Given the description of an element on the screen output the (x, y) to click on. 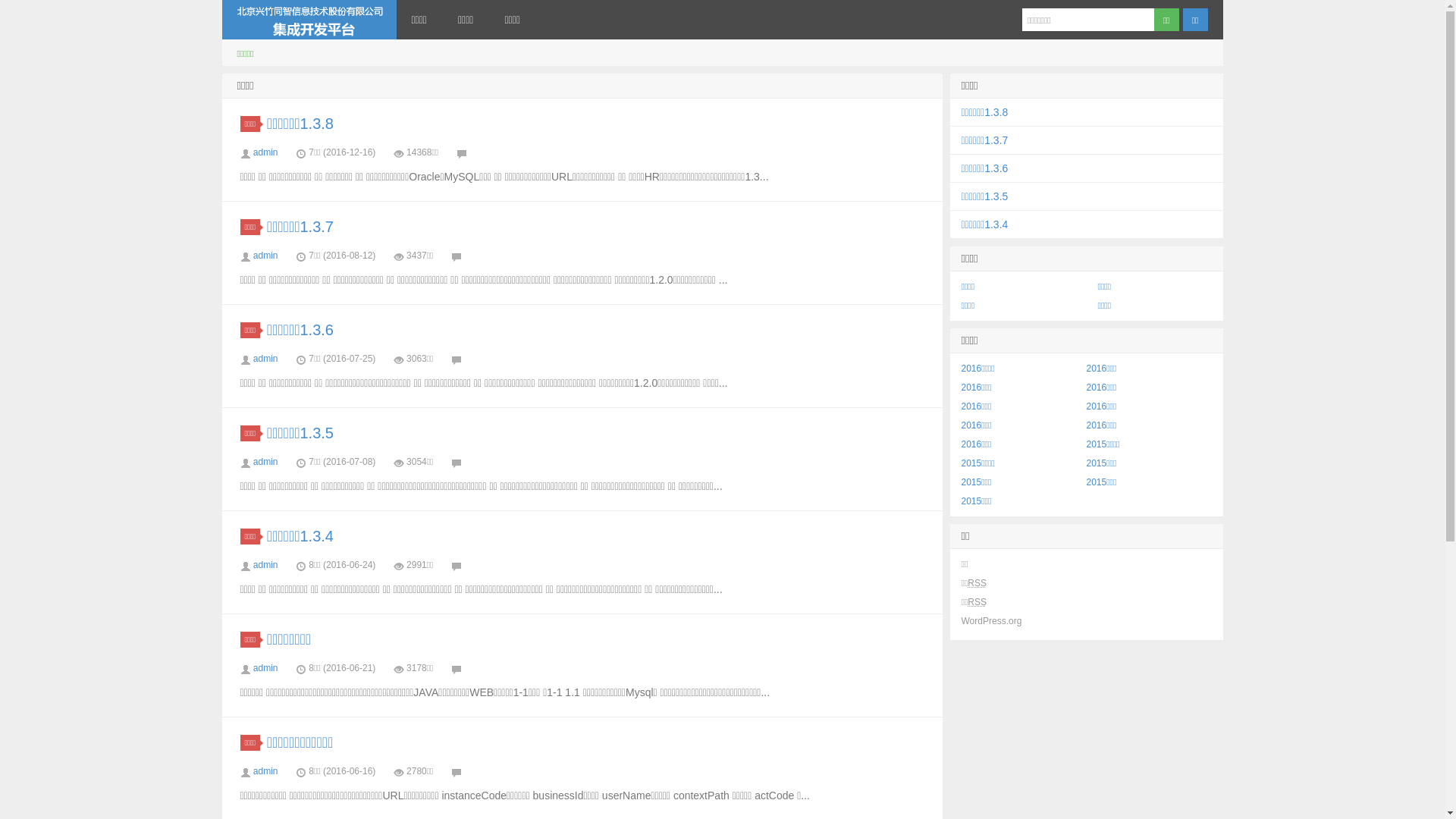
admin Element type: text (265, 358)
admin Element type: text (265, 667)
admin Element type: text (265, 564)
admin Element type: text (265, 152)
admin Element type: text (265, 461)
WordPress.org Element type: text (991, 620)
admin Element type: text (265, 255)
admin Element type: text (265, 770)
